Given the description of an element on the screen output the (x, y) to click on. 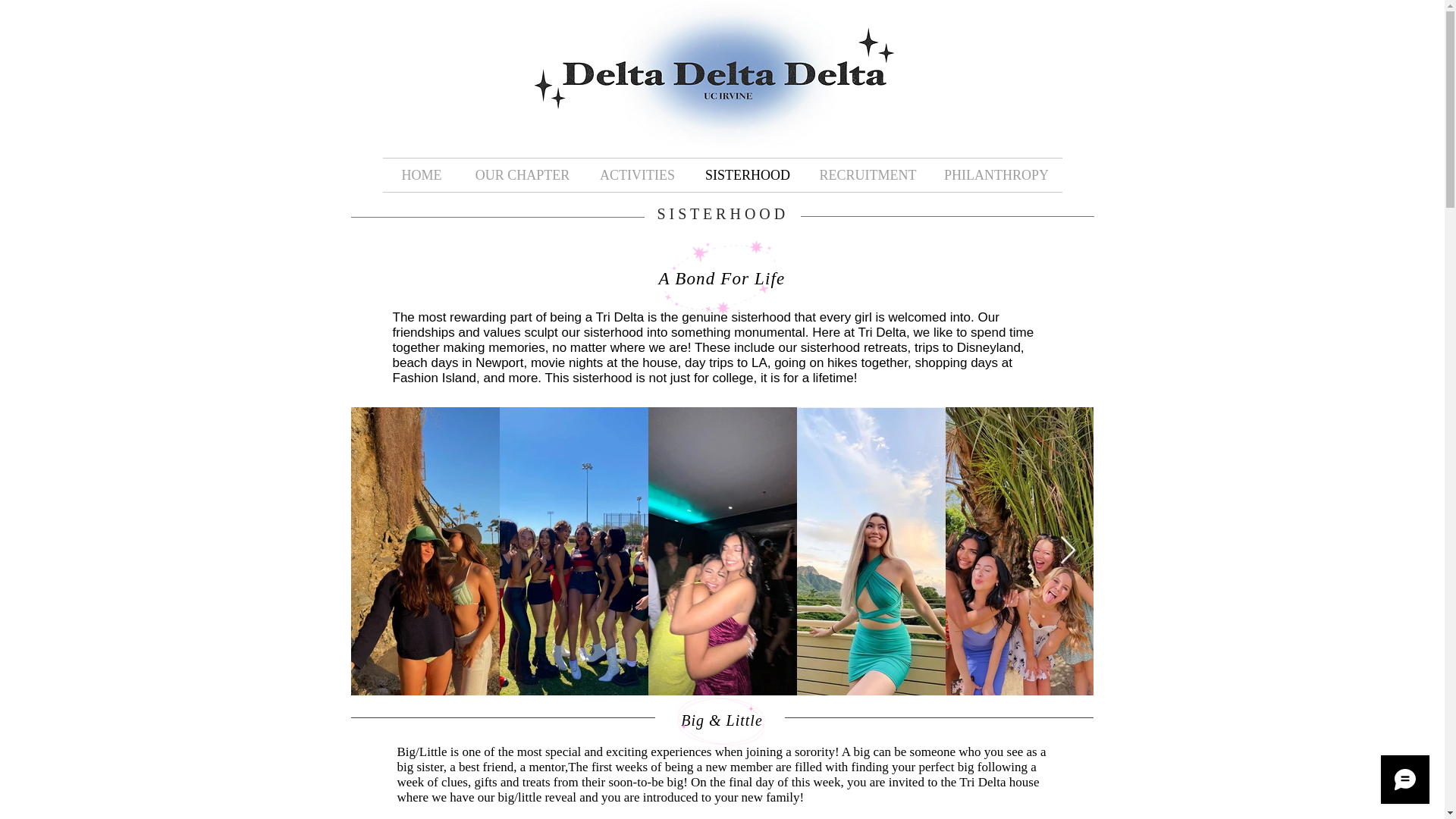
ACTIVITIES (636, 174)
HOME (420, 174)
OUR CHAPTER (523, 174)
RECRUITMENT (868, 174)
PHILANTHROPY (996, 174)
SISTERHOOD (747, 174)
